Given the description of an element on the screen output the (x, y) to click on. 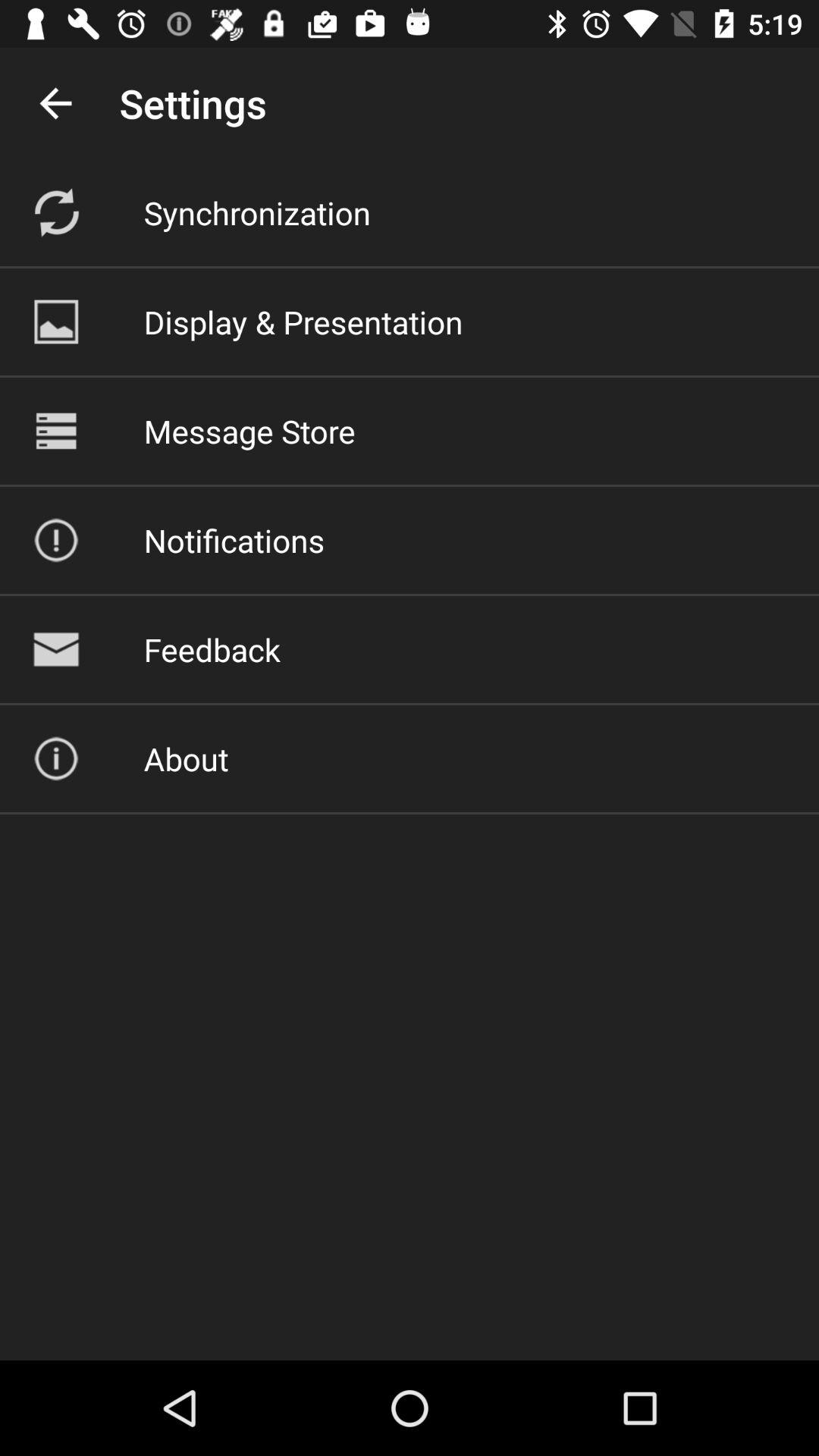
turn on the icon below the display & presentation item (249, 430)
